Given the description of an element on the screen output the (x, y) to click on. 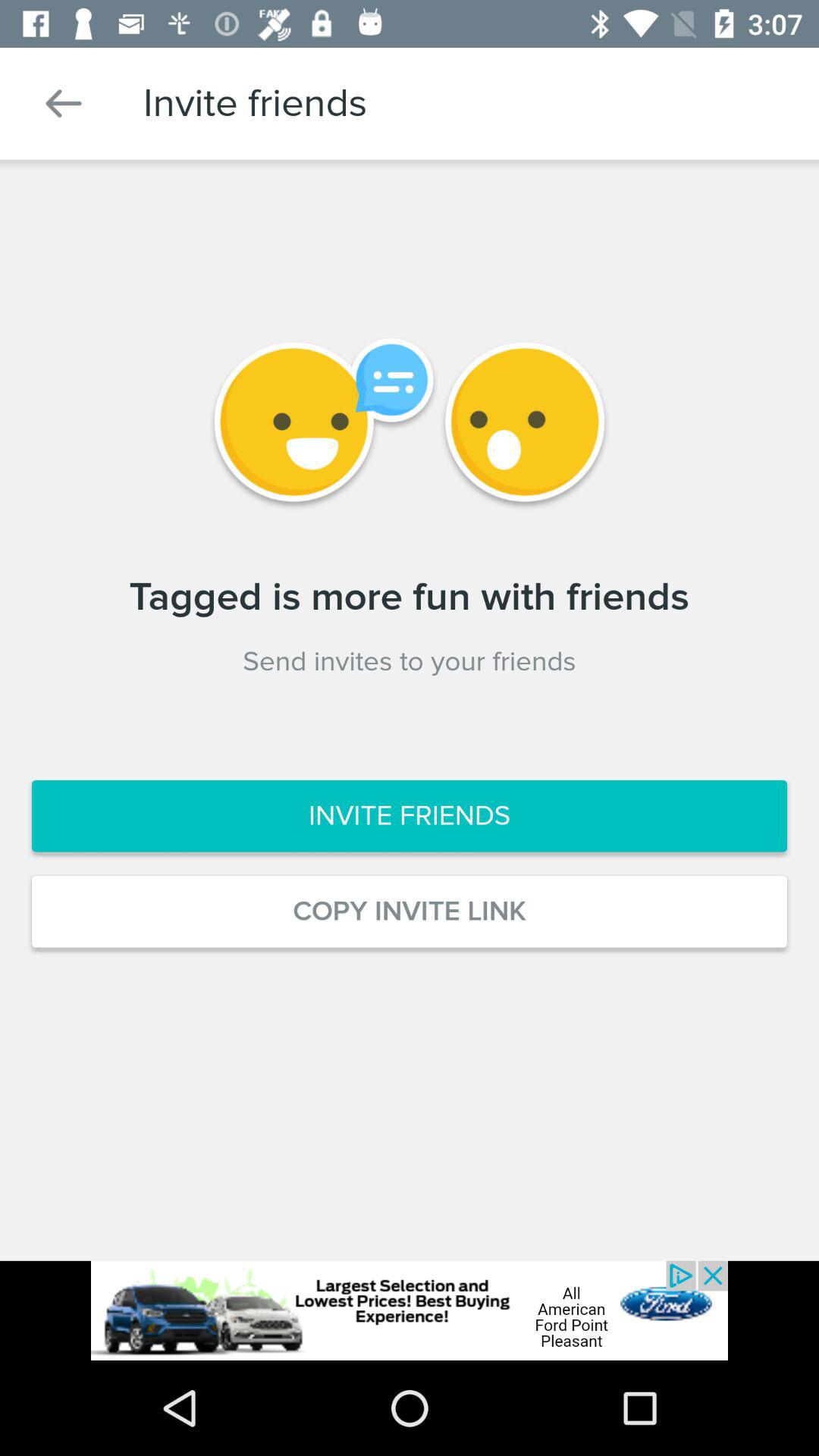
alerta de anuncio (409, 1310)
